Given the description of an element on the screen output the (x, y) to click on. 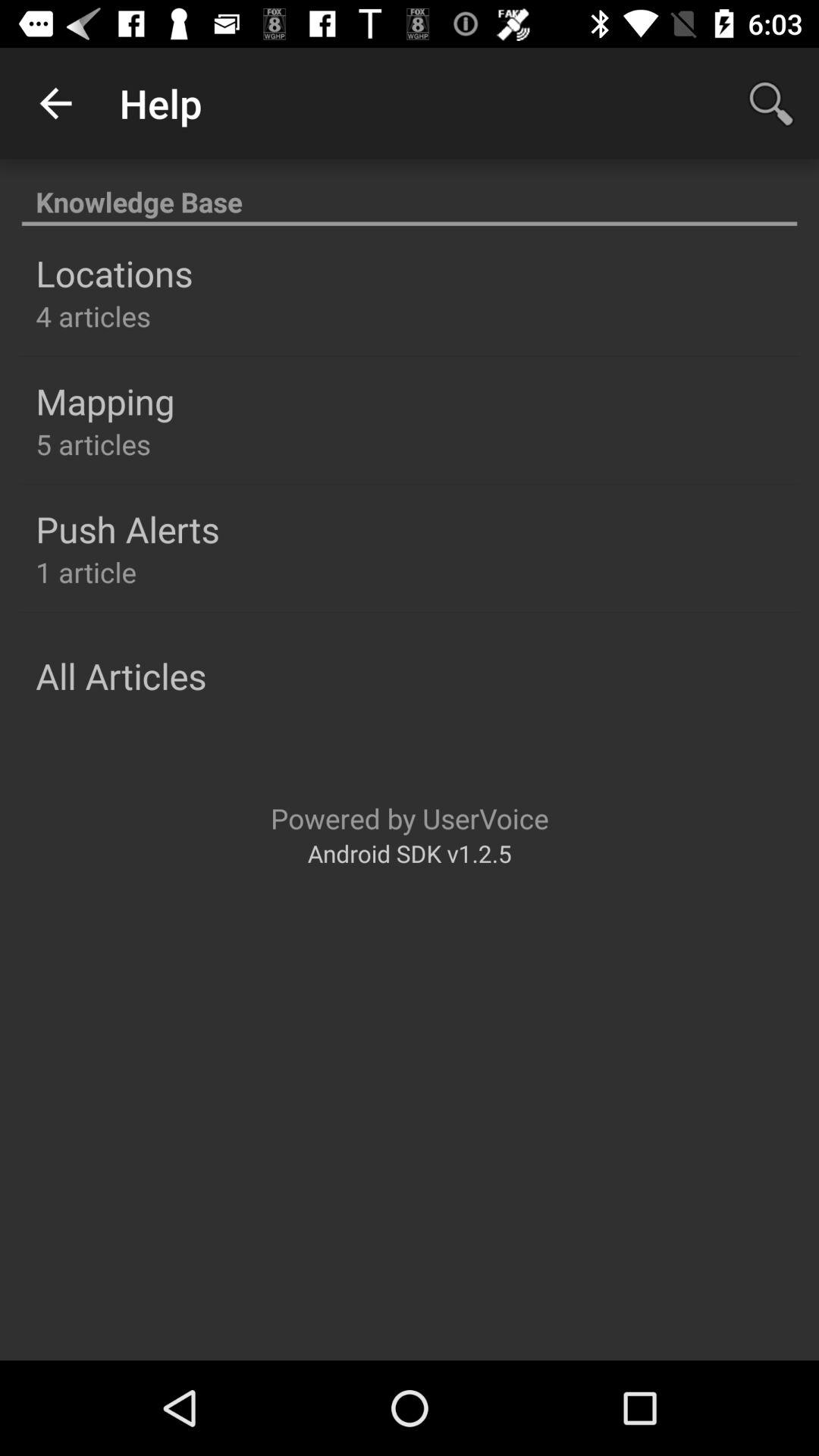
tap the app next to help app (55, 103)
